Given the description of an element on the screen output the (x, y) to click on. 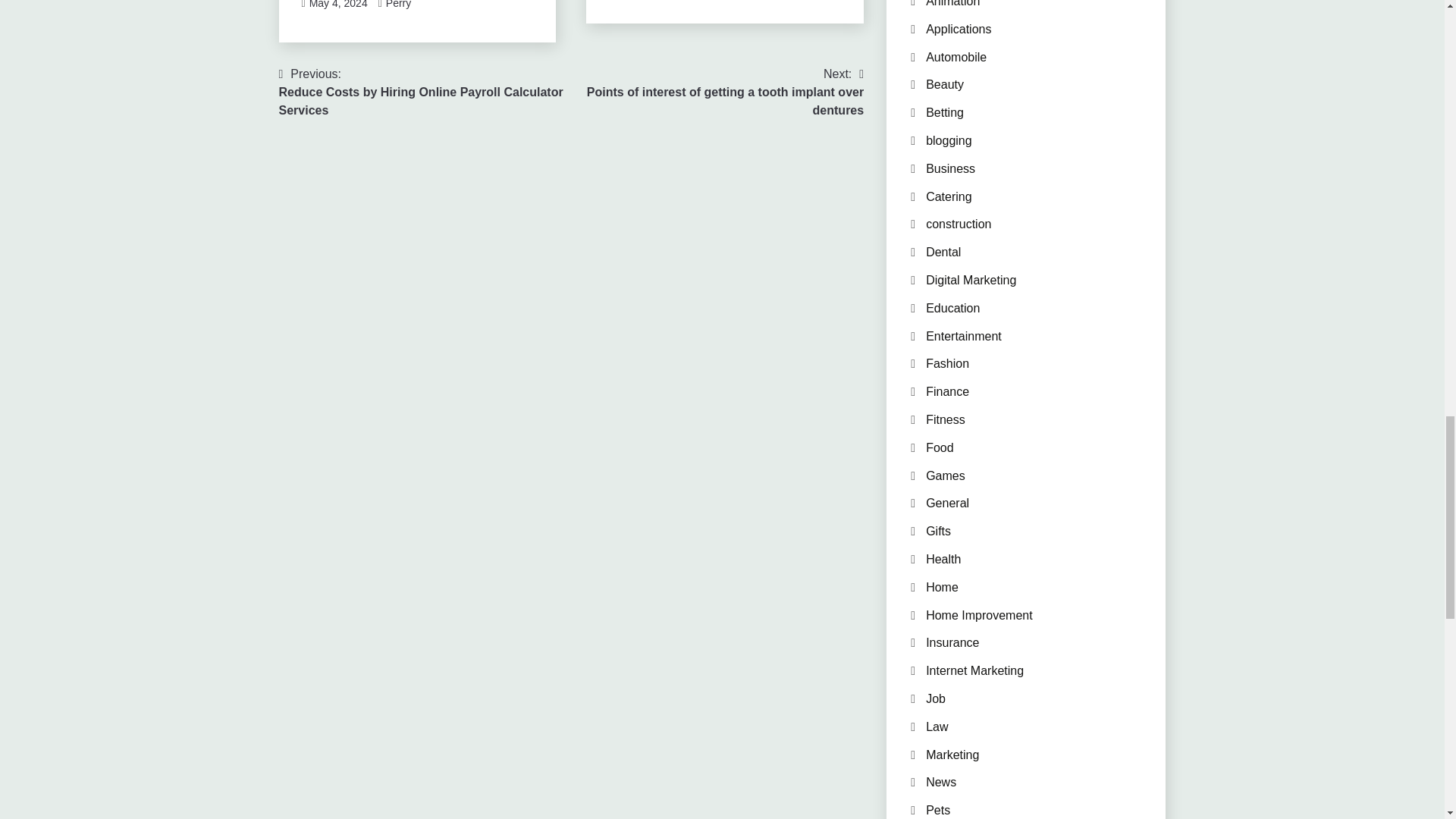
Perry (397, 4)
Applications (958, 29)
Animation (952, 3)
May 4, 2024 (338, 4)
Automobile (956, 56)
